Given the description of an element on the screen output the (x, y) to click on. 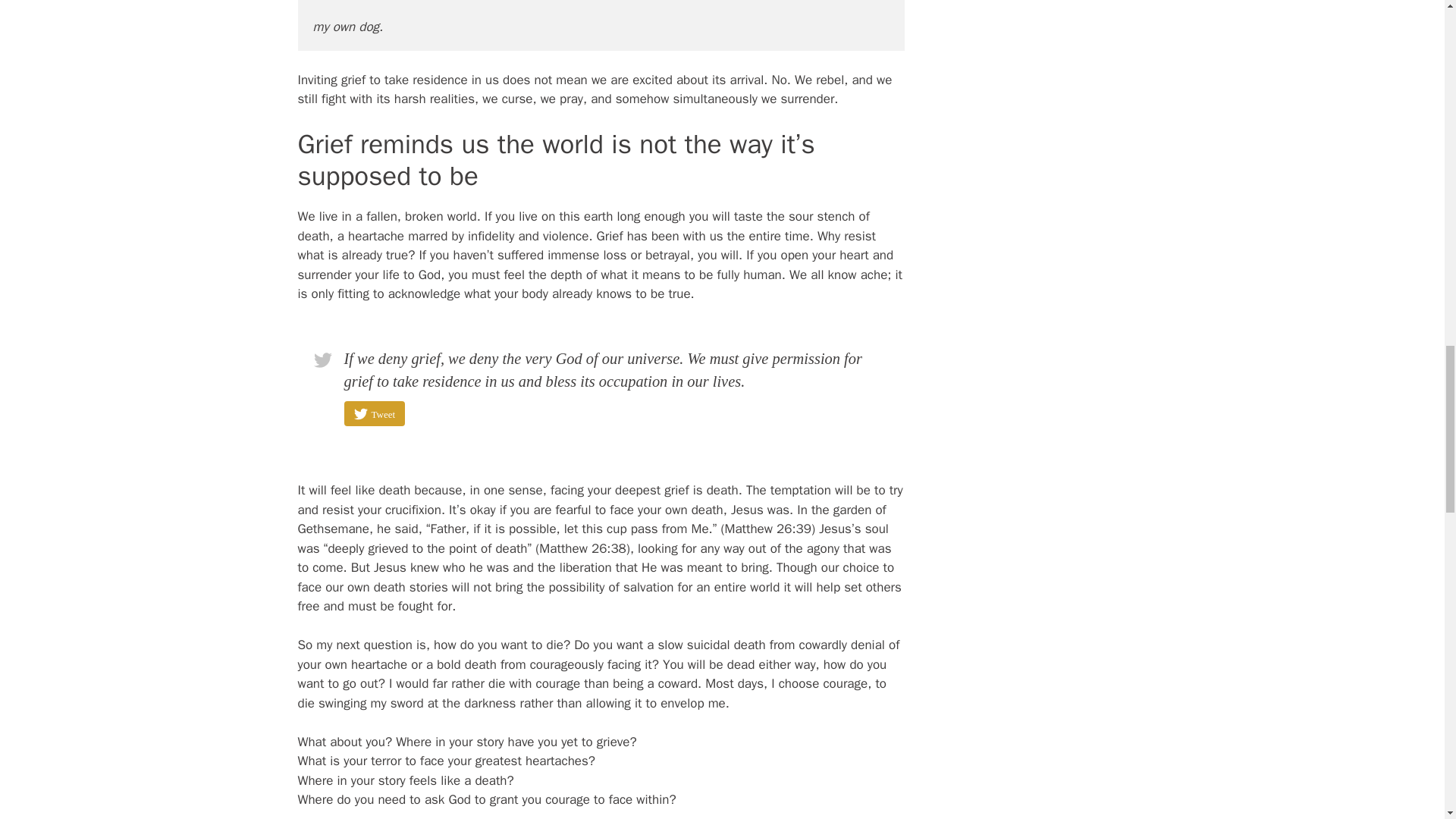
Tweet (374, 413)
